Given the description of an element on the screen output the (x, y) to click on. 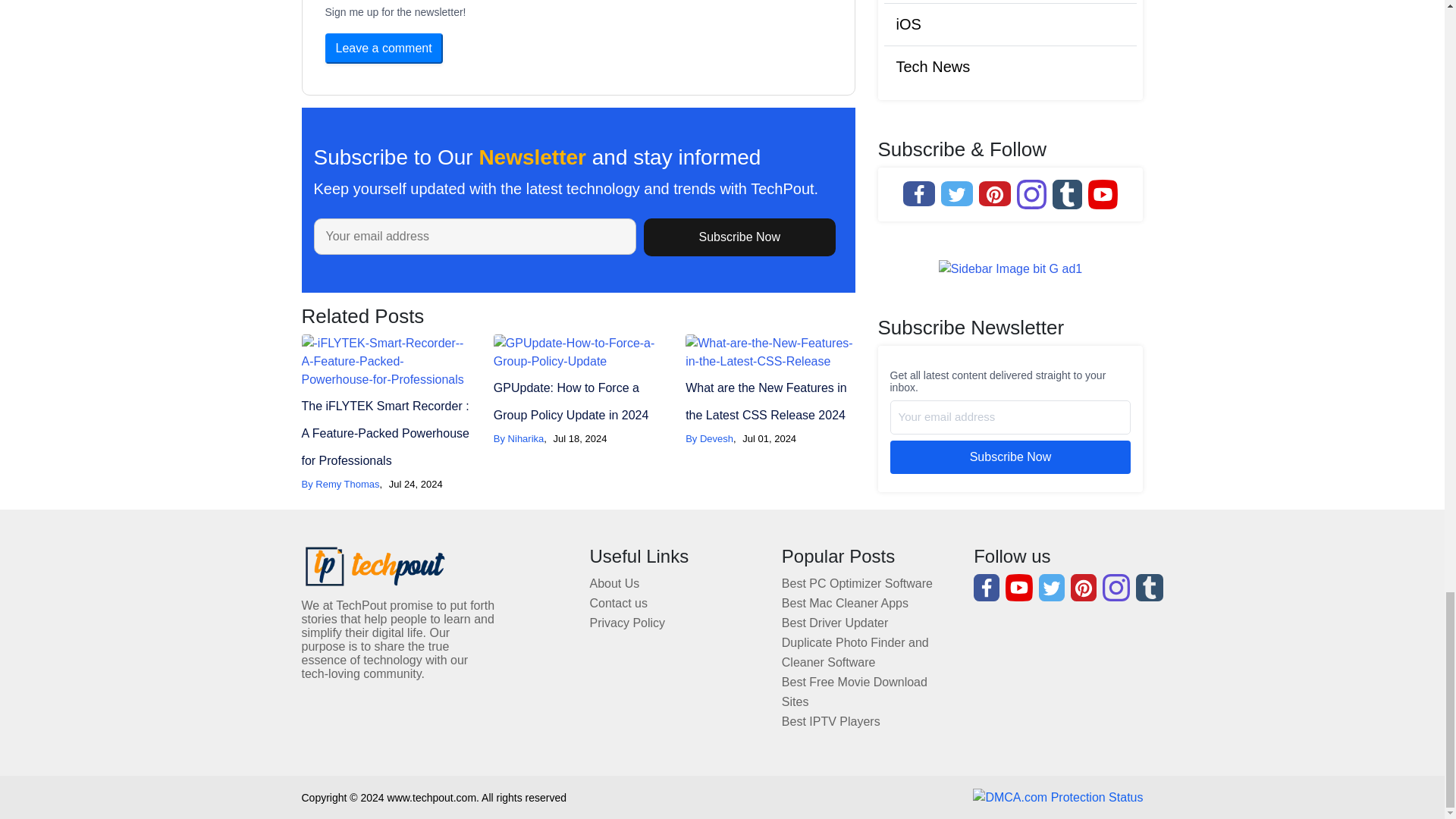
Leave a comment (383, 48)
GPUpdate: How to Force a Group Policy Update in 2024 (571, 401)
By Niharika (518, 438)
Subscribe Now (739, 237)
By Remy Thomas (340, 483)
What are the New Features in the Latest CSS Release 2024 (766, 401)
Subscribe Now (739, 237)
By Devesh (709, 438)
Leave a comment (383, 48)
